Given the description of an element on the screen output the (x, y) to click on. 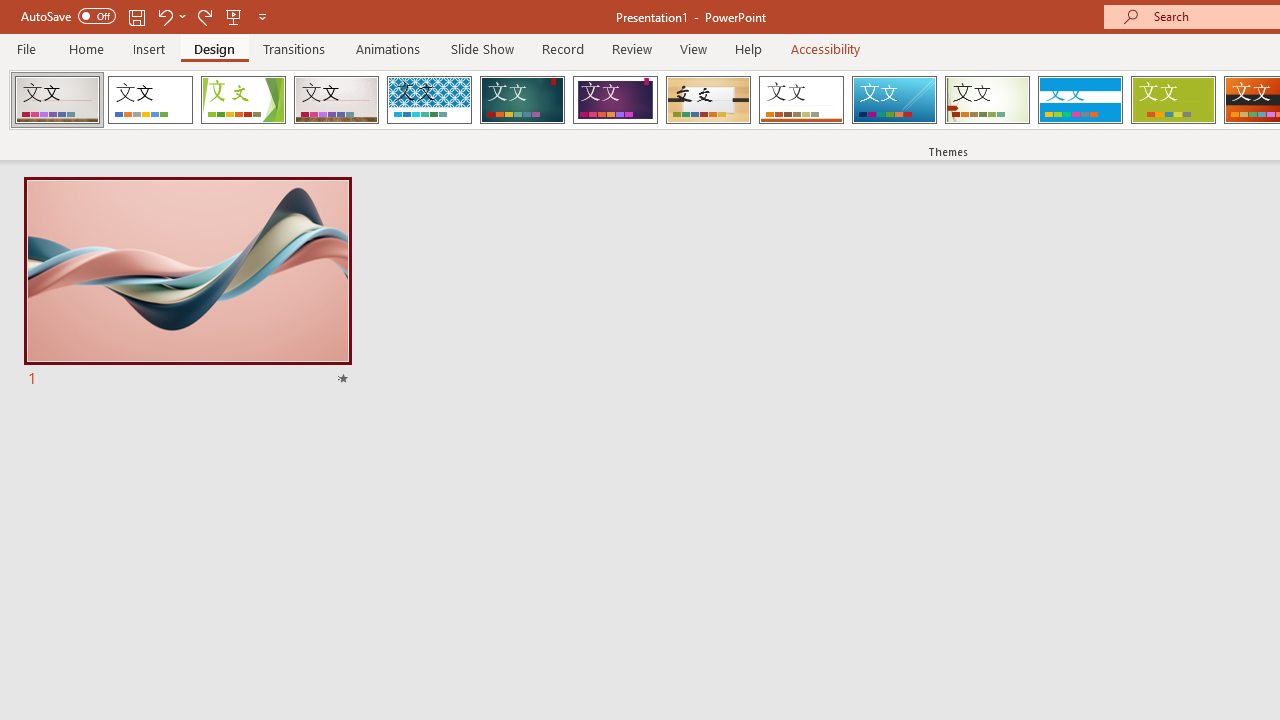
Ion (522, 100)
